Given the description of an element on the screen output the (x, y) to click on. 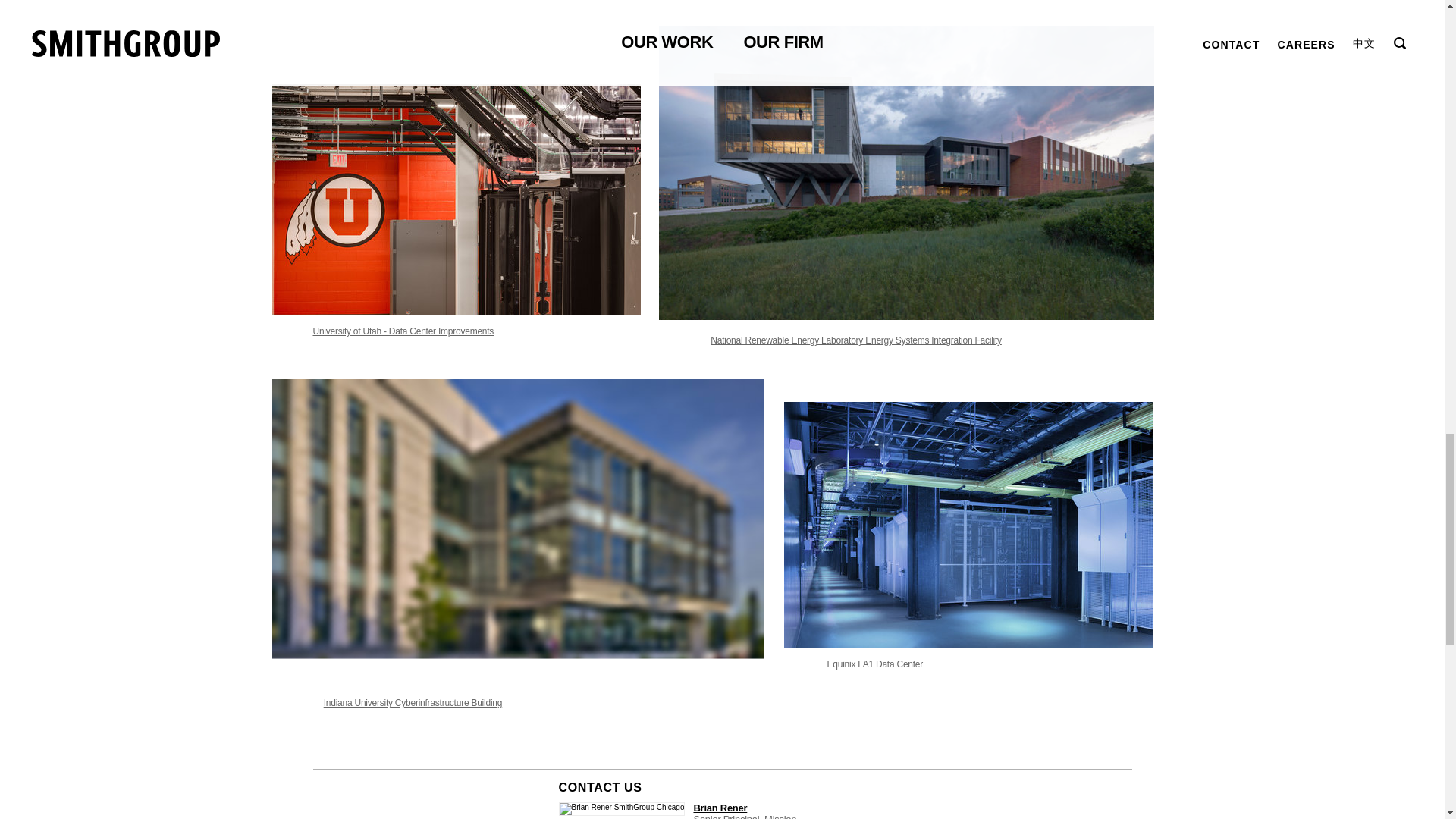
Indiana University Cyberinfrastructure Building (412, 702)
University of Utah - Data Center Improvements (403, 330)
No results (403, 330)
Brian Rener (719, 808)
